Given the description of an element on the screen output the (x, y) to click on. 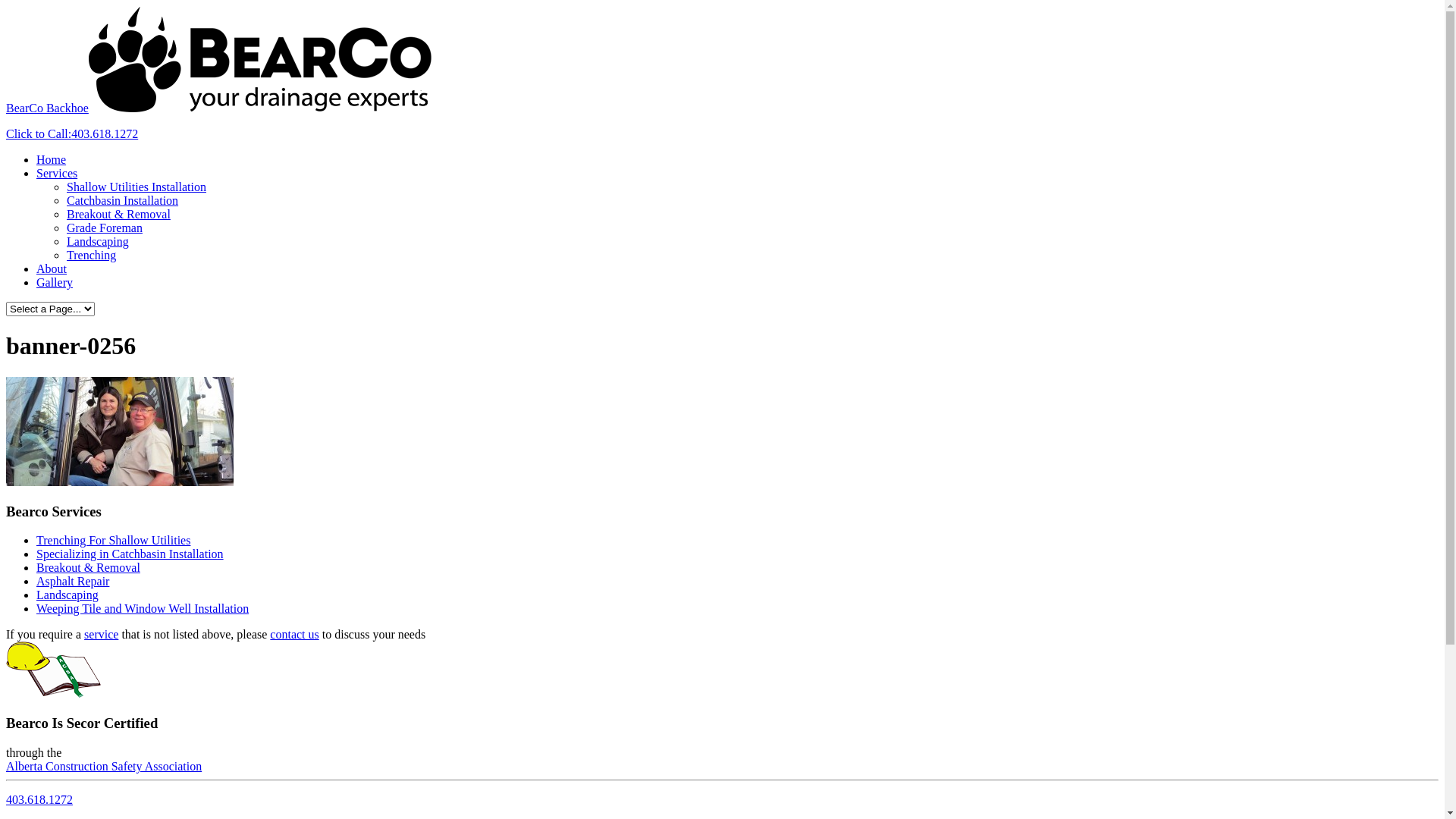
service Element type: text (101, 633)
Specializing in Catchbasin Installation Element type: text (129, 553)
Breakout & Removal Element type: text (118, 213)
Trenching For Shallow Utilities Element type: text (113, 539)
Alberta Construction Safety Association Element type: text (103, 765)
403.618.1272 Element type: text (39, 799)
About Element type: text (51, 268)
Gallery Element type: text (54, 282)
Landscaping Element type: text (67, 594)
403.618.1272 Element type: text (104, 133)
Grade Foreman Element type: text (104, 227)
Shallow Utilities Installation Element type: text (136, 186)
Home Element type: text (50, 159)
BearCo Backhoe Element type: text (220, 107)
Weeping Tile and Window Well Installation Element type: text (142, 608)
Catchbasin Installation Element type: text (122, 200)
contact us Element type: text (293, 633)
Trenching Element type: text (91, 254)
Landscaping Element type: text (97, 241)
Breakout & Removal Element type: text (88, 567)
Asphalt Repair Element type: text (72, 580)
Click to Call: Element type: text (38, 133)
Services Element type: text (56, 172)
